Given the description of an element on the screen output the (x, y) to click on. 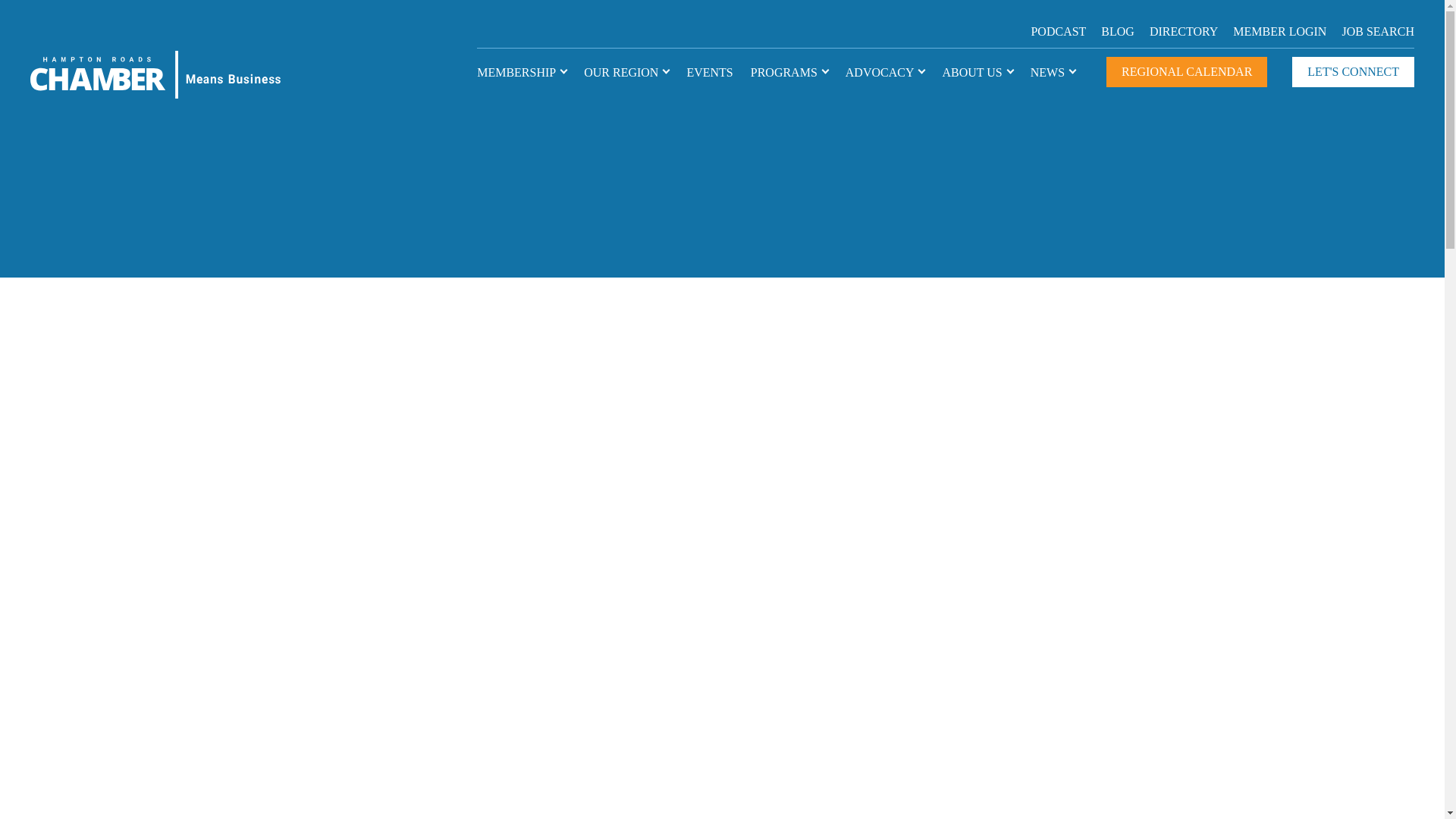
DIRECTORY (1183, 31)
PROGRAMS (783, 73)
MEMBER LOGIN (1279, 31)
OUR REGION (620, 73)
JOB SEARCH (1376, 31)
ADVOCACY (879, 73)
PODCAST (1058, 31)
MEMBERSHIP (516, 73)
BLOG (1117, 31)
EVENTS (708, 73)
Hampton Roads (155, 74)
